Given the description of an element on the screen output the (x, y) to click on. 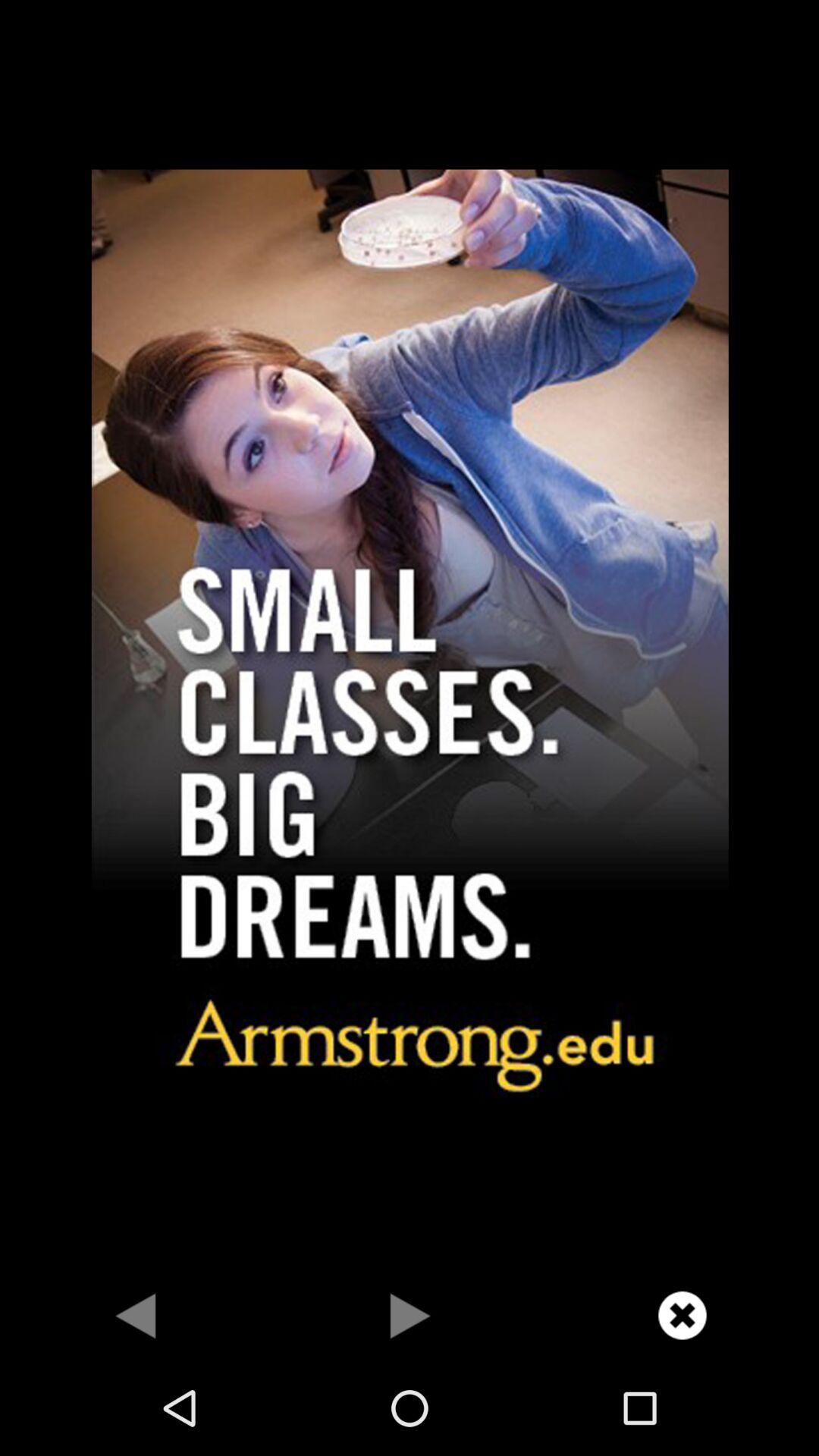
play (409, 1315)
